Given the description of an element on the screen output the (x, y) to click on. 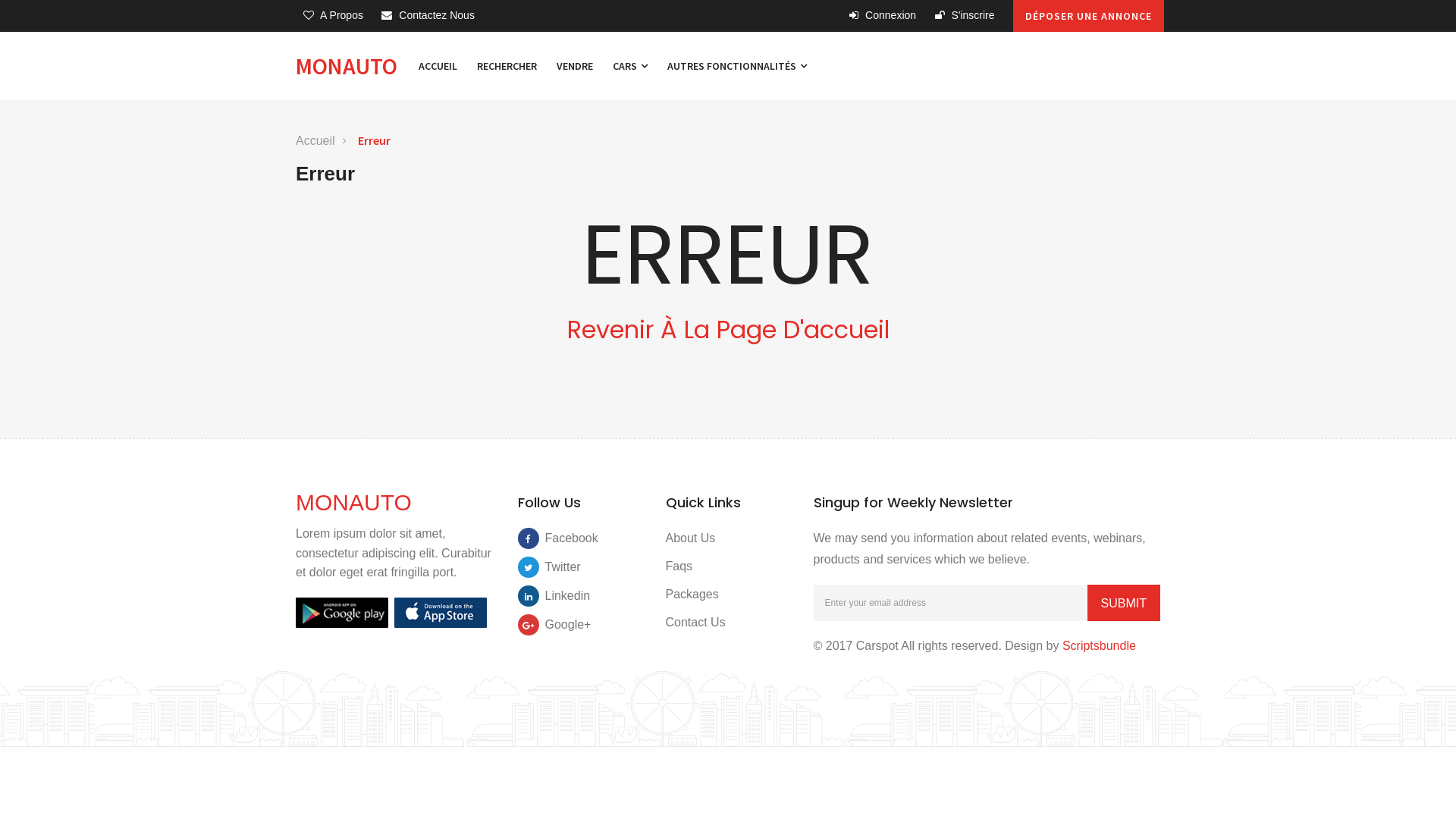
RECHERCHER Element type: text (506, 65)
Accueil Element type: text (315, 140)
Contact Us Element type: text (695, 621)
Contactez Nous Element type: text (427, 15)
VENDRE Element type: text (574, 65)
MONAUTO Element type: text (353, 501)
CARS Element type: text (629, 65)
Connexion Element type: text (882, 15)
Erreur Element type: text (373, 140)
Faqs Element type: text (679, 565)
Scriptsbundle Element type: text (1098, 645)
ACCUEIL Element type: text (437, 65)
Submit Element type: text (1123, 602)
A Propos Element type: text (333, 15)
S'Inscrire Element type: text (964, 15)
About Us Element type: text (690, 537)
MONAUTO Element type: text (351, 65)
Packages Element type: text (691, 593)
